Given the description of an element on the screen output the (x, y) to click on. 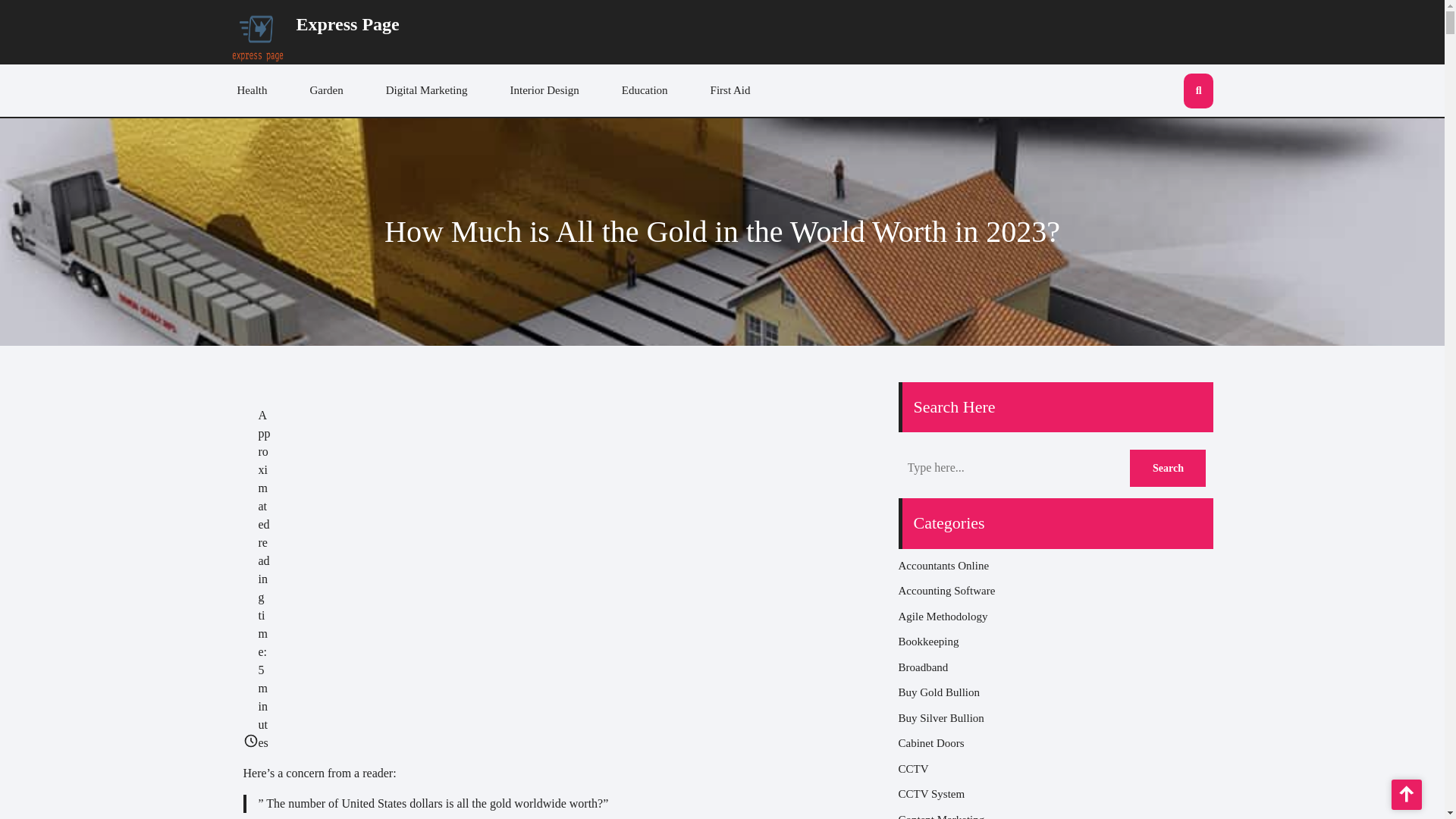
Interior Design (544, 90)
Buy Silver Bullion (941, 717)
Education (644, 90)
Bookkeeping (928, 641)
Express Page (346, 24)
Agile Methodology (942, 616)
CCTV (913, 768)
Search (1167, 467)
Buy Gold Bullion (938, 692)
Accountants Online (943, 565)
Broadband (922, 666)
First Aid (730, 90)
Search (1167, 467)
Digital Marketing (427, 90)
Accounting Software (946, 590)
